Given the description of an element on the screen output the (x, y) to click on. 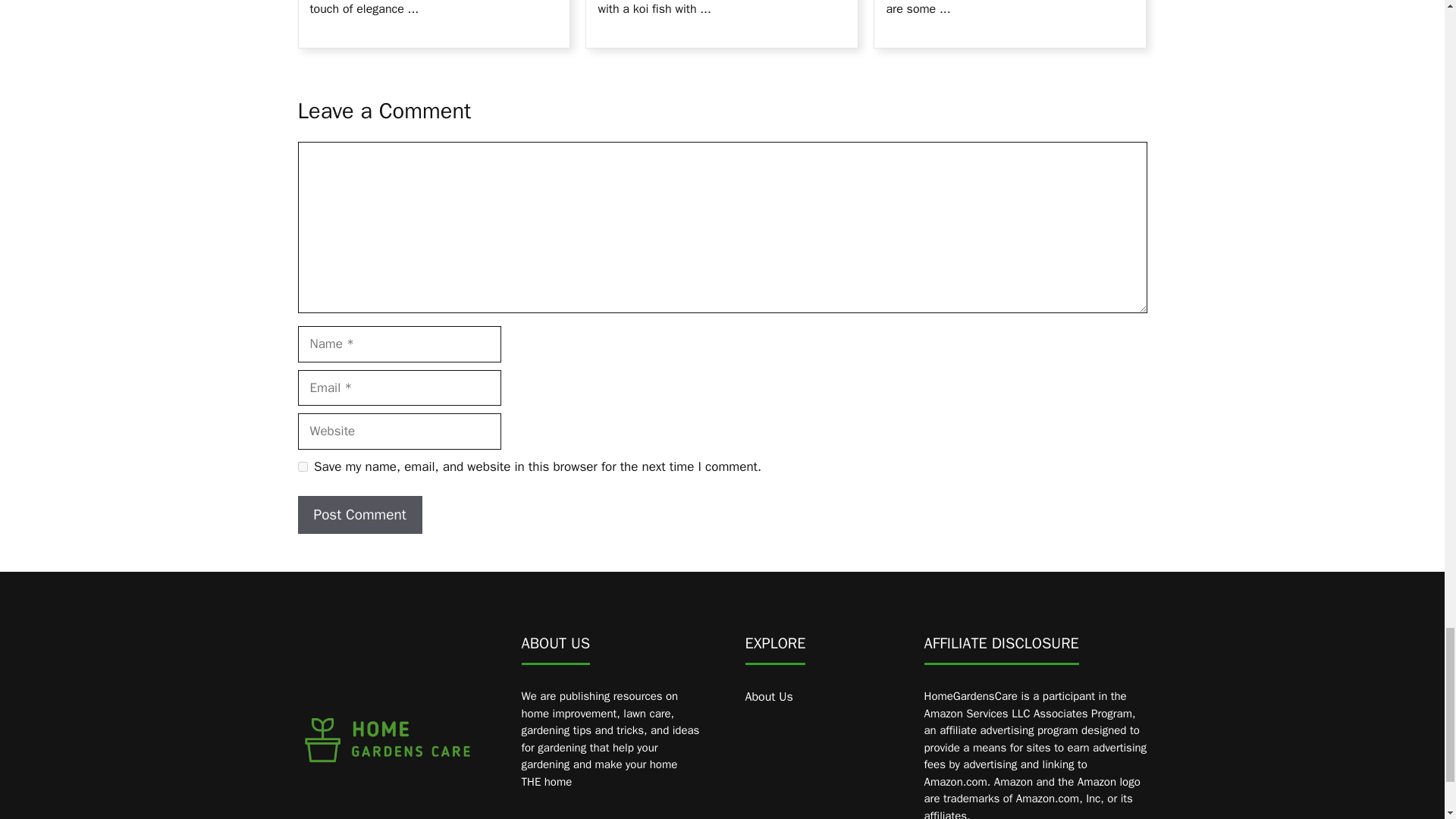
yes (302, 466)
About Us (768, 696)
Post Comment (359, 515)
Post Comment (359, 515)
